Given the description of an element on the screen output the (x, y) to click on. 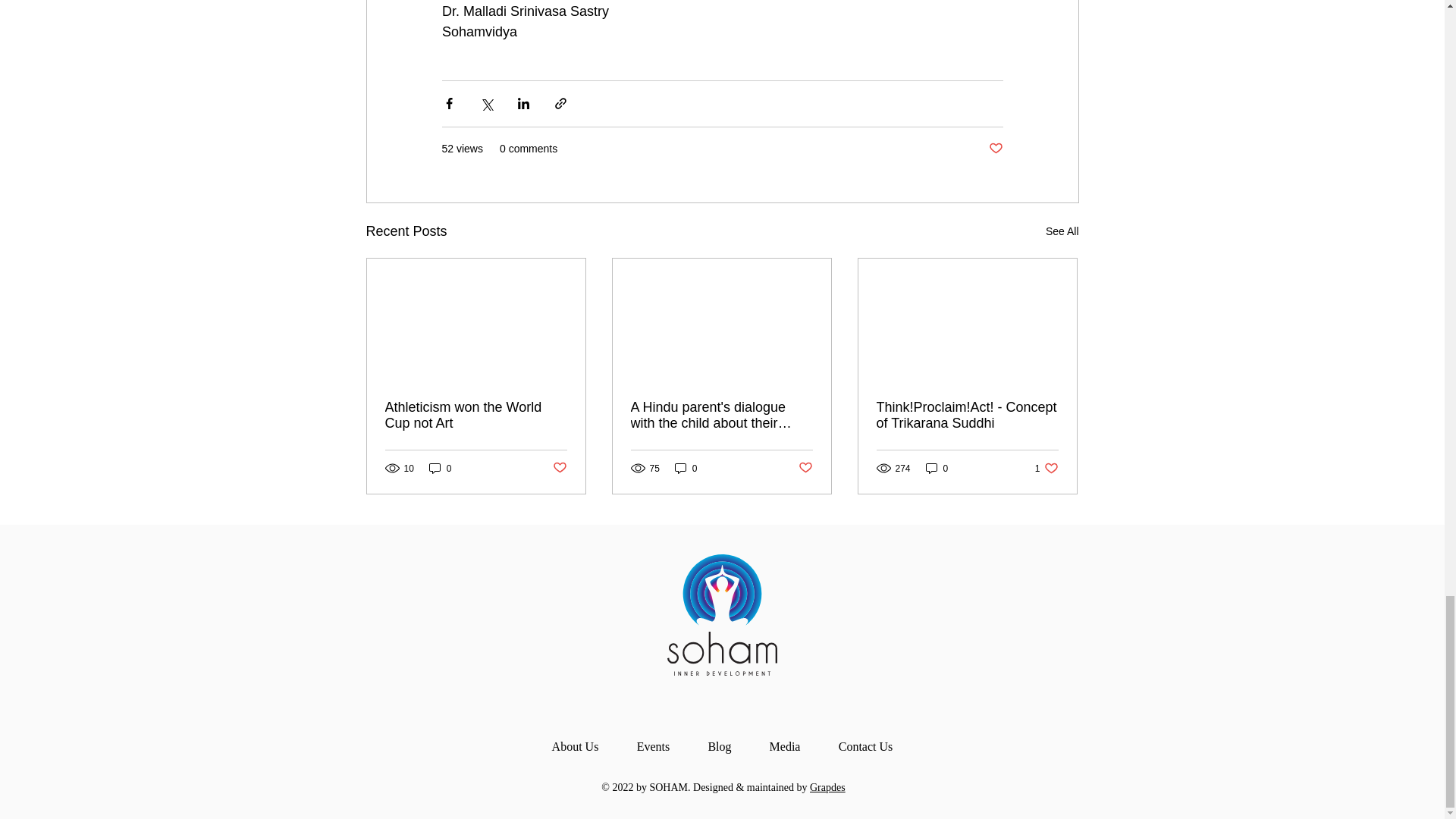
0 (685, 468)
0 (937, 468)
Post not marked as liked (995, 148)
Post not marked as liked (804, 467)
Post not marked as liked (558, 467)
Contact Us (864, 746)
Think!Proclaim!Act! - Concept of Trikarana Suddhi (967, 415)
Athleticism won the World Cup not Art (476, 415)
0 (1046, 468)
